Given the description of an element on the screen output the (x, y) to click on. 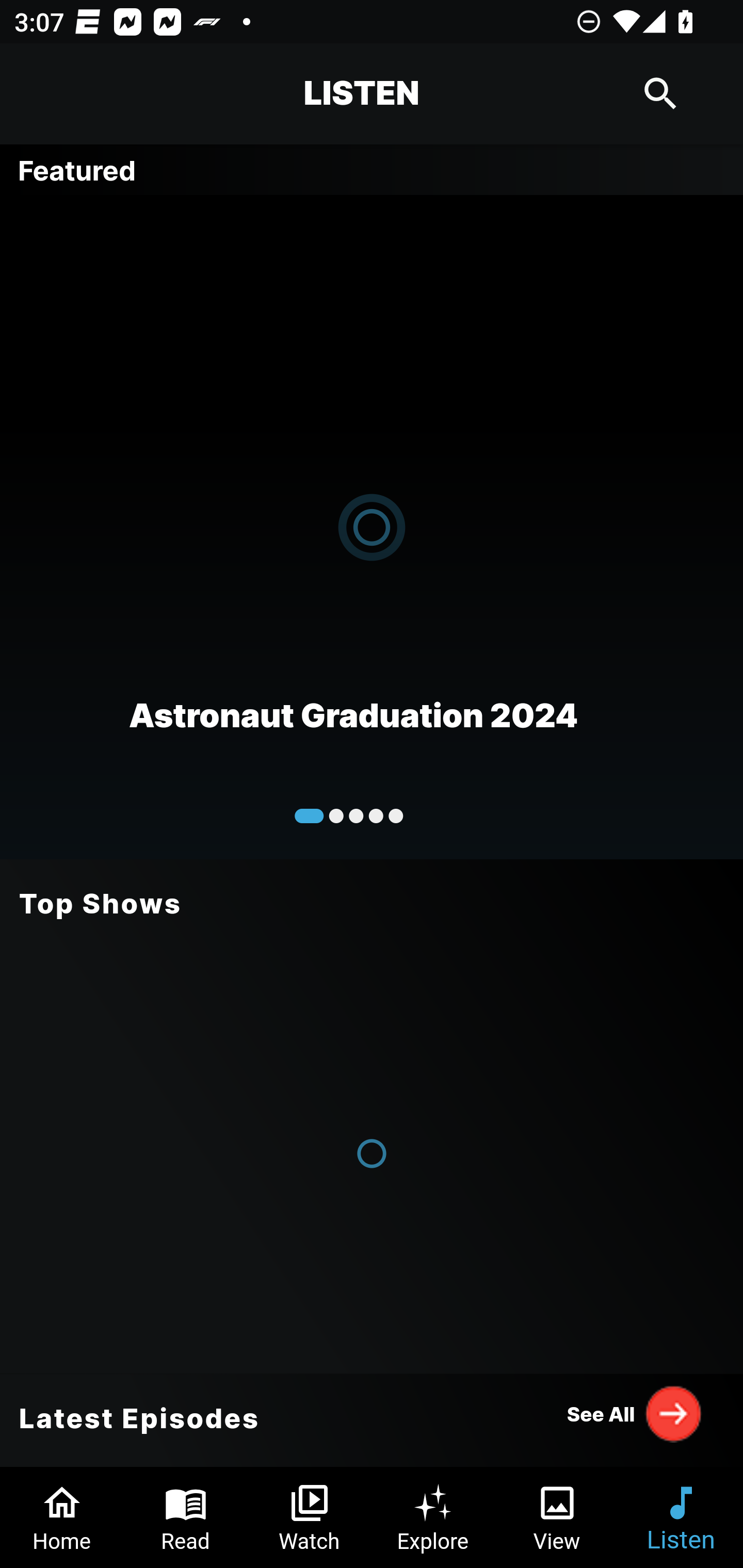
Astronaut Graduation 2024 (371, 526)
See All (634, 1413)
Home
Tab 1 of 6 (62, 1517)
Read
Tab 2 of 6 (185, 1517)
Watch
Tab 3 of 6 (309, 1517)
Explore
Tab 4 of 6 (433, 1517)
View
Tab 5 of 6 (556, 1517)
Listen
Tab 6 of 6 (680, 1517)
